Given the description of an element on the screen output the (x, y) to click on. 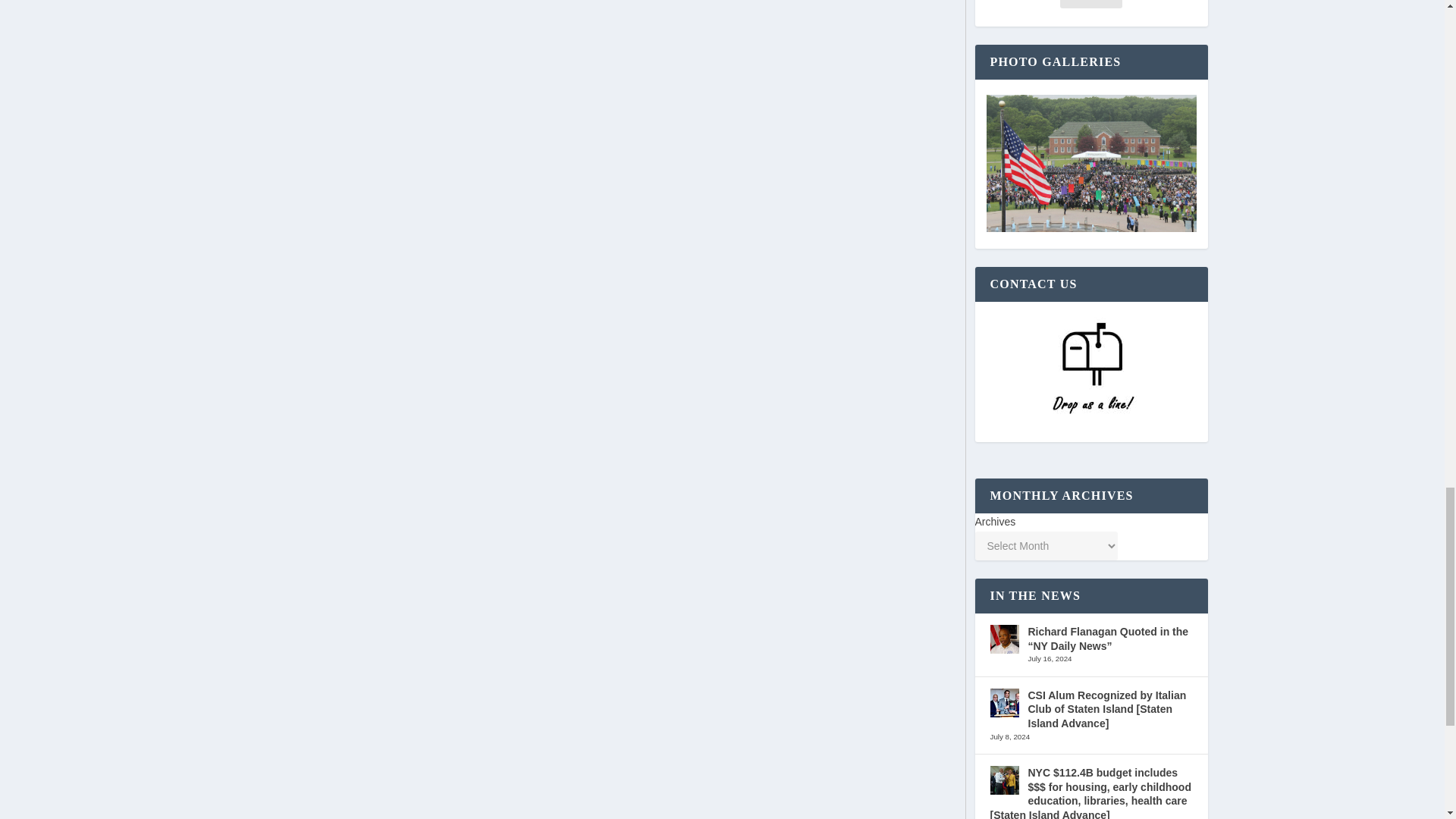
Sign up (1090, 4)
